Given the description of an element on the screen output the (x, y) to click on. 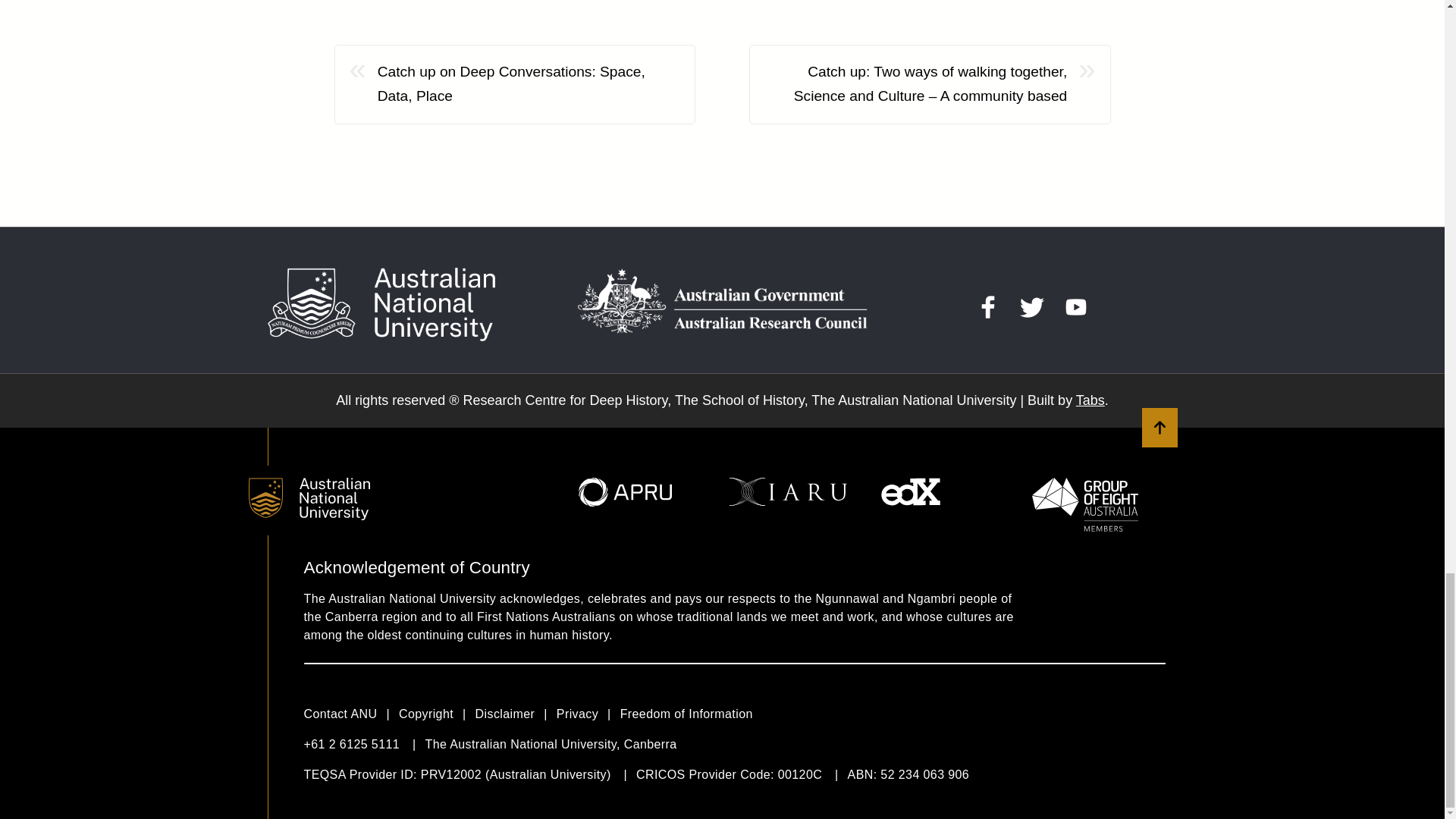
Catch up on Deep Conversations: Space, Data, Place (528, 83)
Tabs (1090, 400)
Privacy (588, 714)
Disclaimer (516, 714)
Contact ANU (349, 714)
Back to top (1159, 427)
Copyright (437, 714)
